Given the description of an element on the screen output the (x, y) to click on. 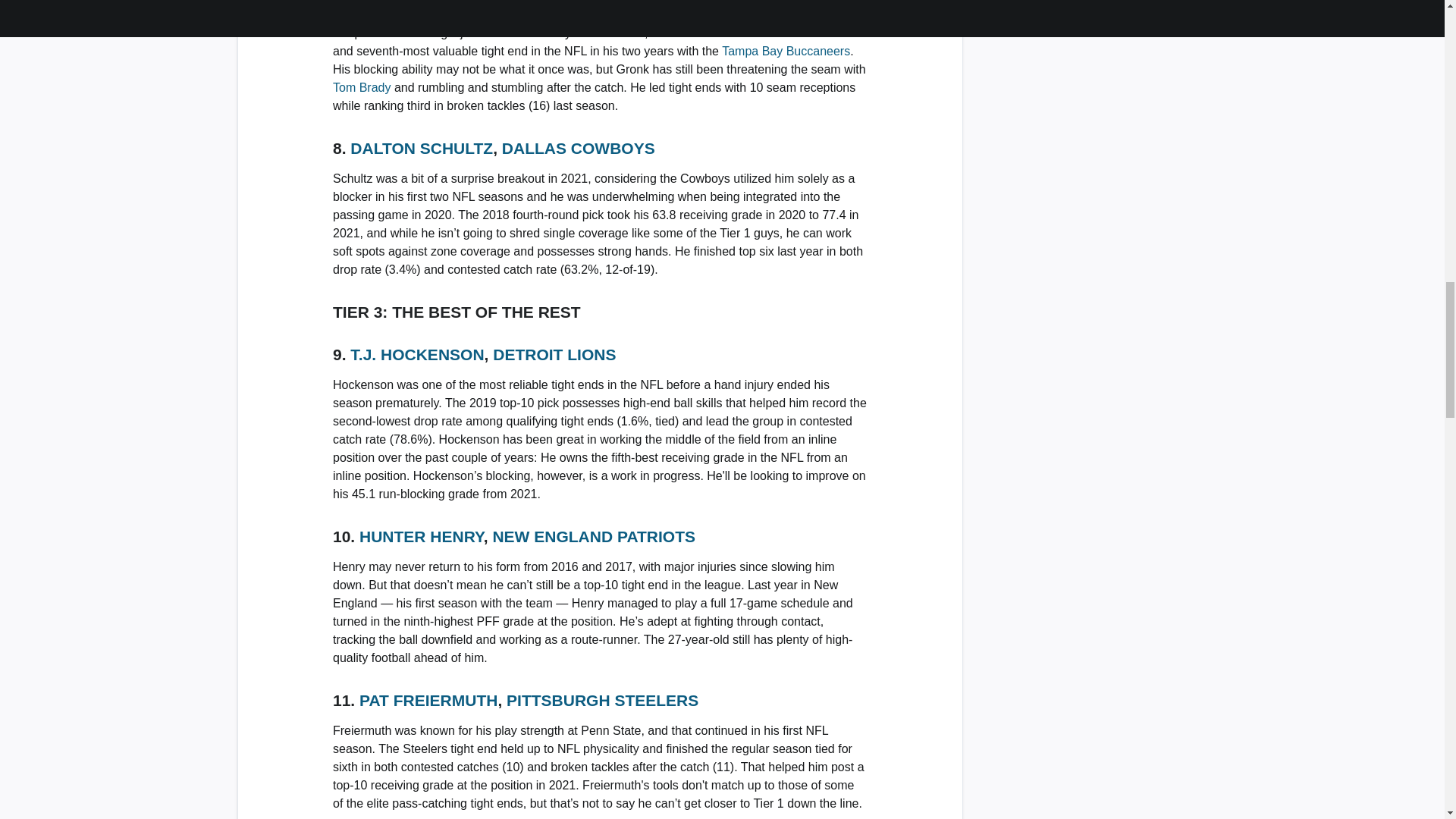
PITTSBURGH STEELERS (602, 700)
DETROIT LIONS (554, 354)
PAT FREIERMUTH (428, 700)
Tom Brady (361, 87)
NEW ENGLAND PATRIOTS (593, 536)
T.J. HOCKENSON (416, 354)
Tampa Bay Buccaneers (786, 51)
HUNTER HENRY (421, 536)
DALTON SCHULTZ (421, 148)
DALLAS COWBOYS (578, 148)
